Given the description of an element on the screen output the (x, y) to click on. 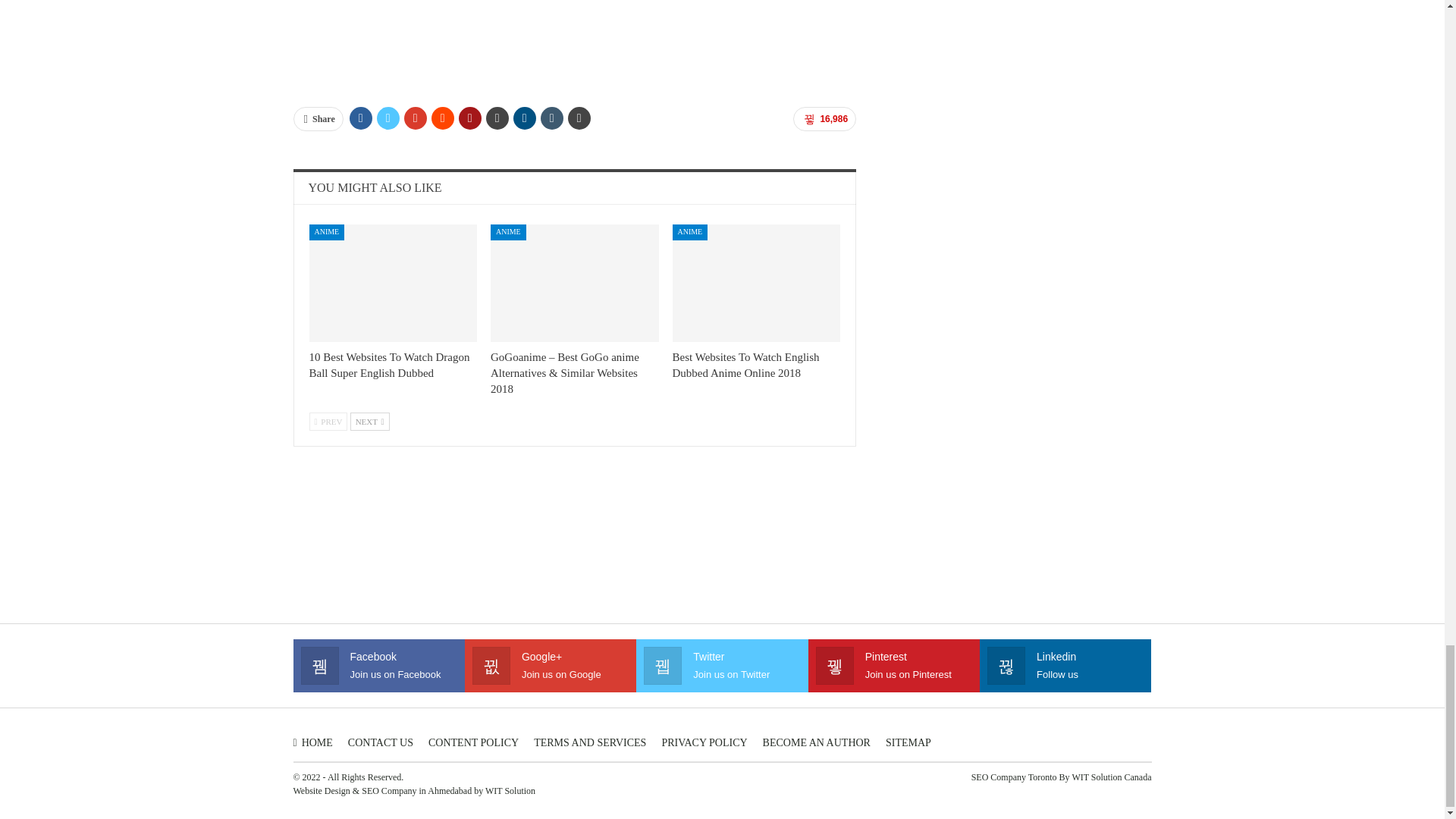
website design (320, 790)
Next (370, 421)
10 Best Websites To Watch Dragon Ball Super English Dubbed (392, 283)
Previous (327, 421)
Best Websites To Watch English Dubbed Anime Online 2018 (756, 283)
10 Best Websites To Watch Dragon Ball Super English Dubbed (389, 365)
Best Websites To Watch English Dubbed Anime Online 2018 (745, 365)
